Given the description of an element on the screen output the (x, y) to click on. 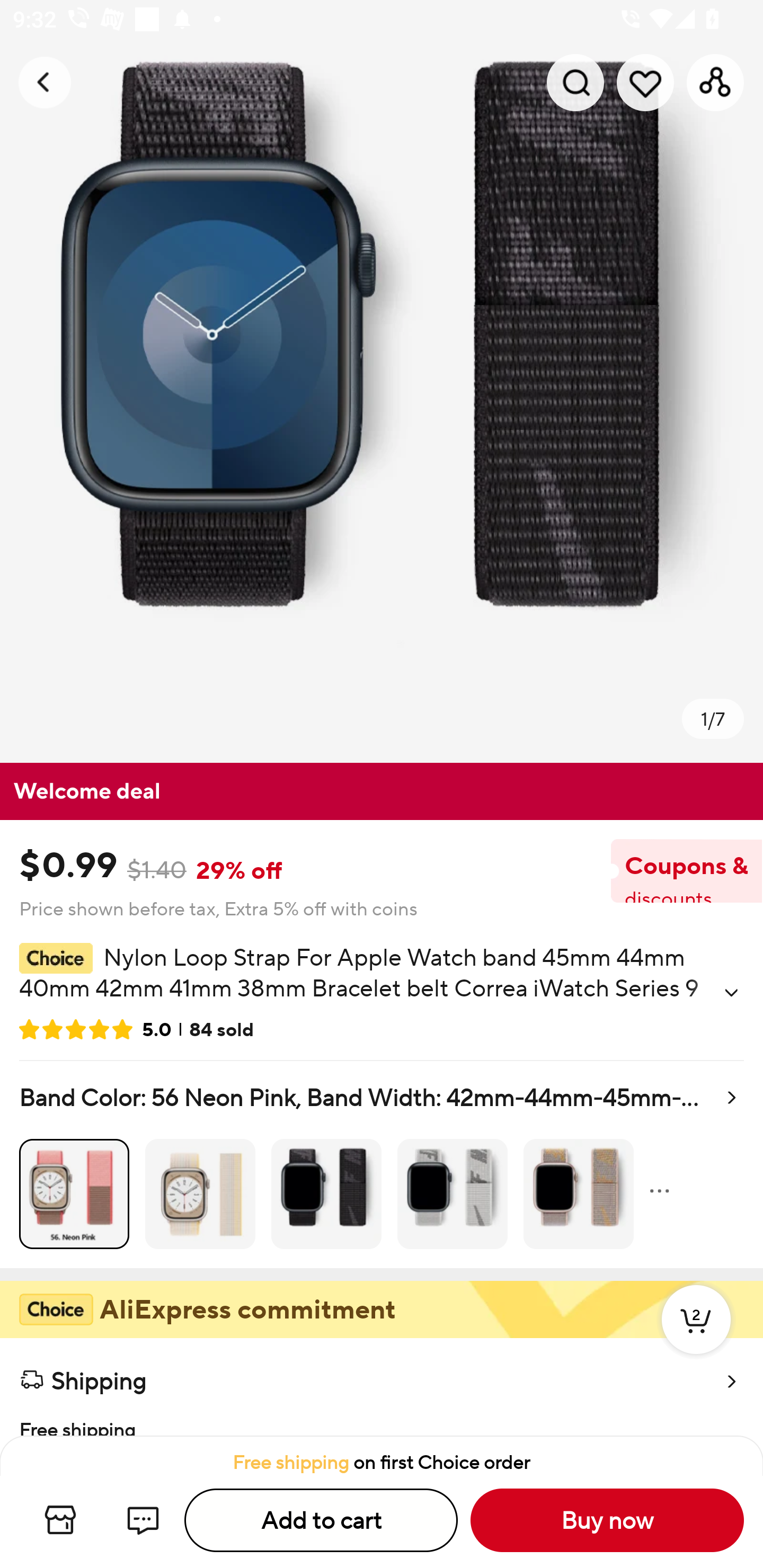
Navigate up (44, 82)
 (730, 992)
2 (695, 1338)
Shipping  Free shipping  (381, 1386)
Add to cart (320, 1520)
Buy now (606, 1520)
